Given the description of an element on the screen output the (x, y) to click on. 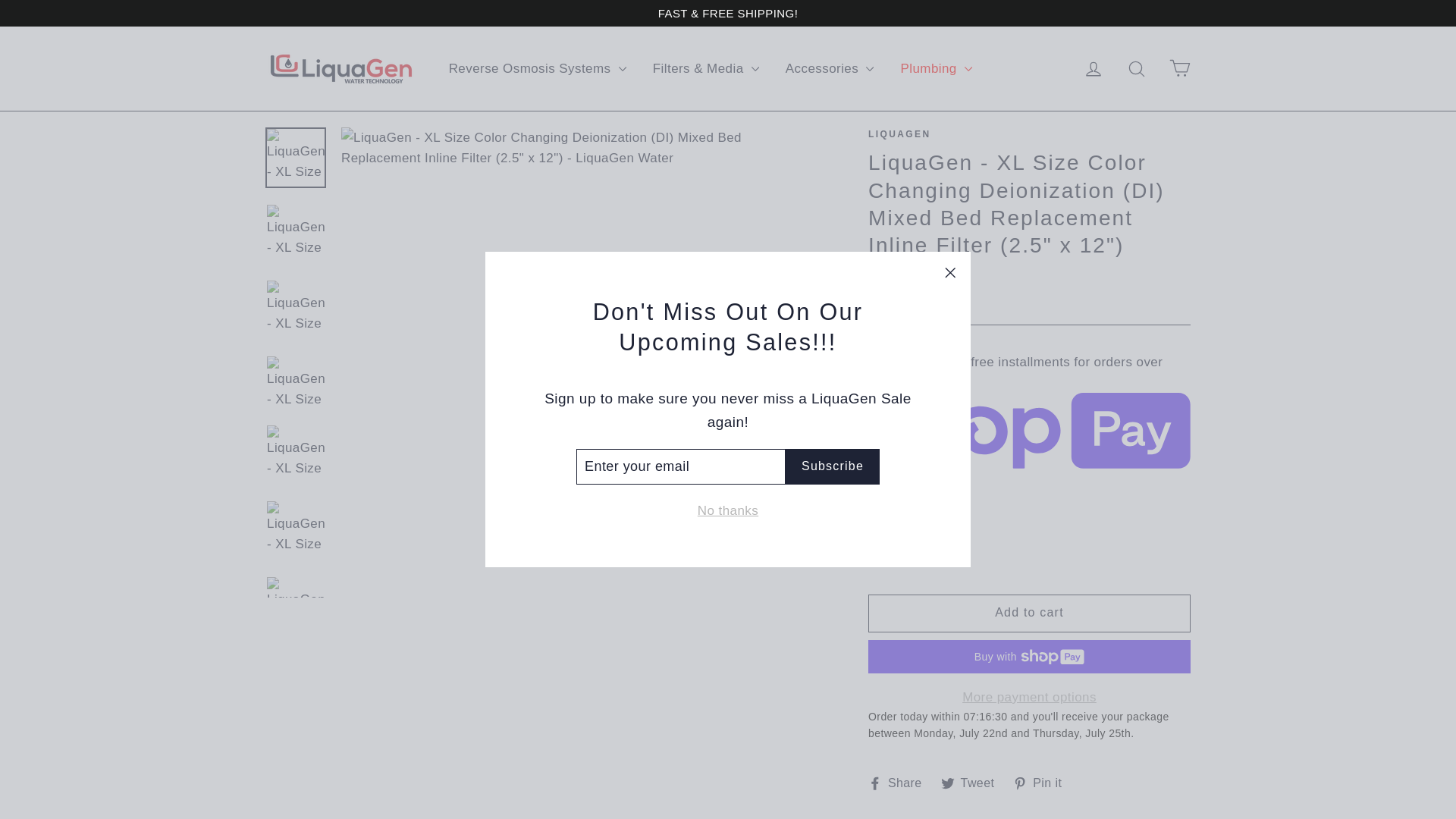
Tweet on Twitter (973, 783)
Pin on Pinterest (1043, 783)
1 (905, 546)
Share on Facebook (900, 783)
Reverse Osmosis Systems (537, 68)
